Given the description of an element on the screen output the (x, y) to click on. 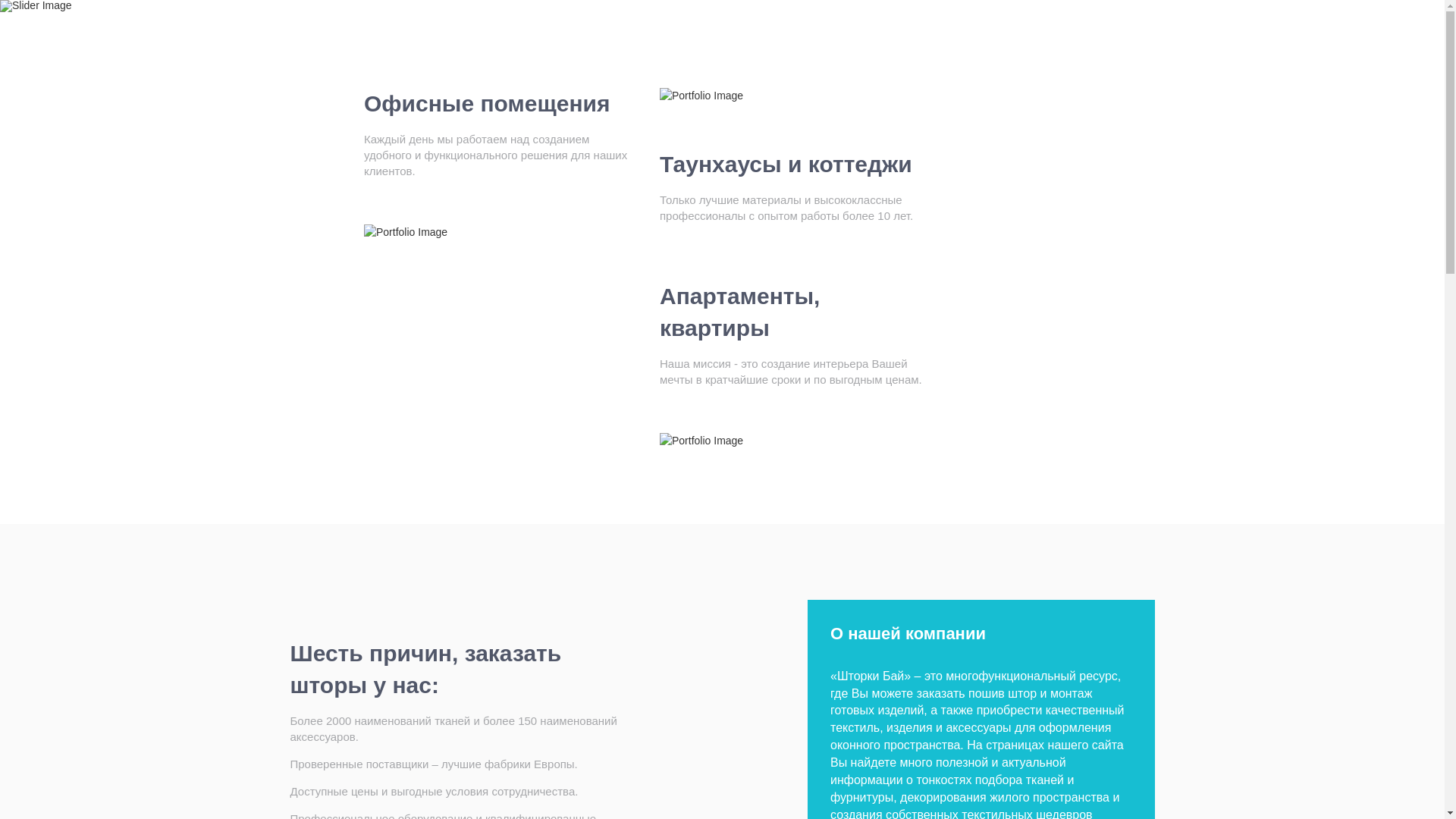
+375 (29) 155-00-11 Element type: text (1101, 36)
